Given the description of an element on the screen output the (x, y) to click on. 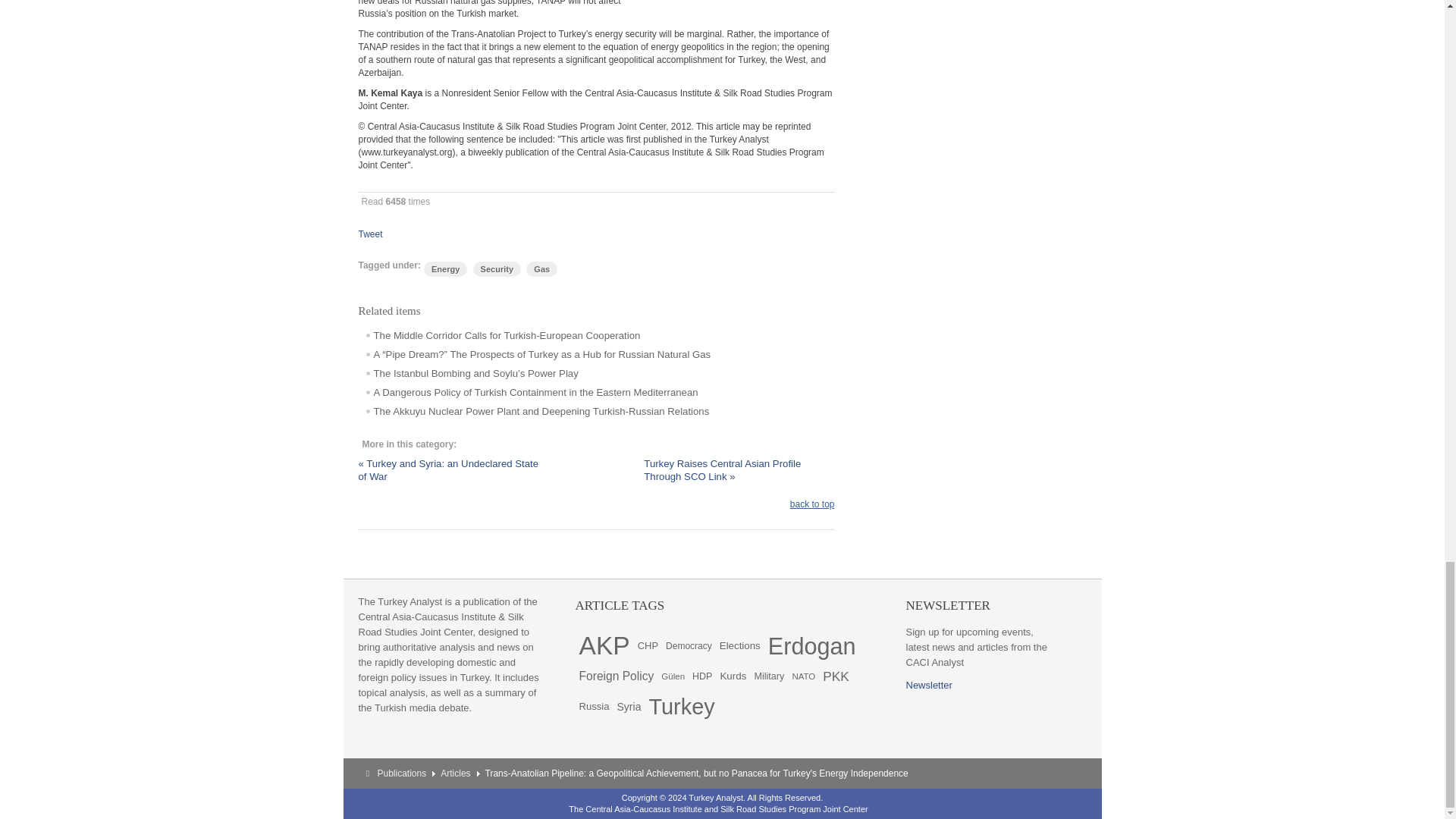
28 items tagged with NATO (802, 675)
38 items tagged with CHP (647, 645)
Gas (541, 268)
70 items tagged with PKK (835, 675)
41 items tagged with Elections (740, 645)
The Middle Corridor Calls for Turkish-European Cooperation (499, 335)
Energy (445, 268)
190 items tagged with AKP (604, 645)
Tweet (369, 234)
46 items tagged with Syria (628, 706)
42 items tagged with Kurds (732, 675)
31 items tagged with Democracy (689, 645)
58 items tagged with Foreign Policy (616, 675)
